Given the description of an element on the screen output the (x, y) to click on. 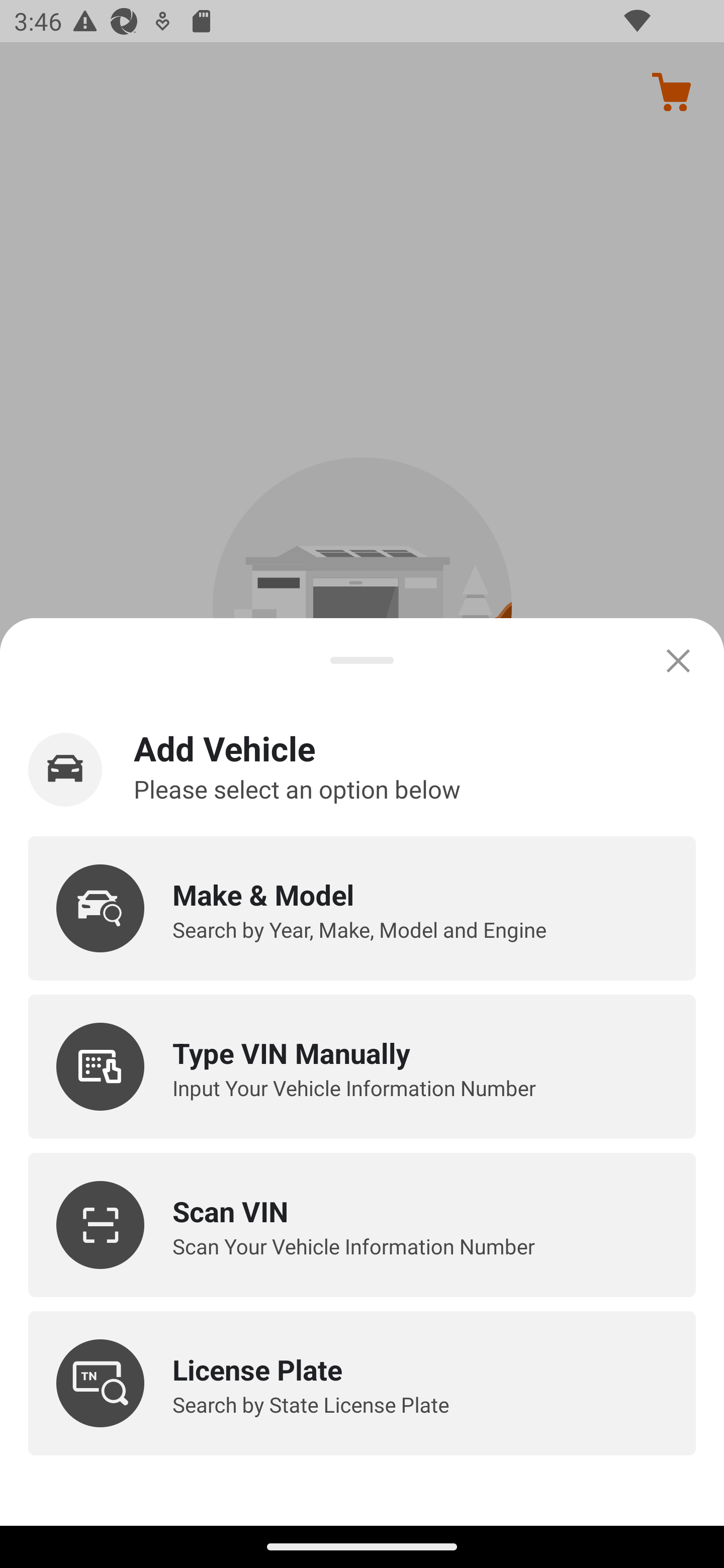
Close Modal  (677, 659)
